Given the description of an element on the screen output the (x, y) to click on. 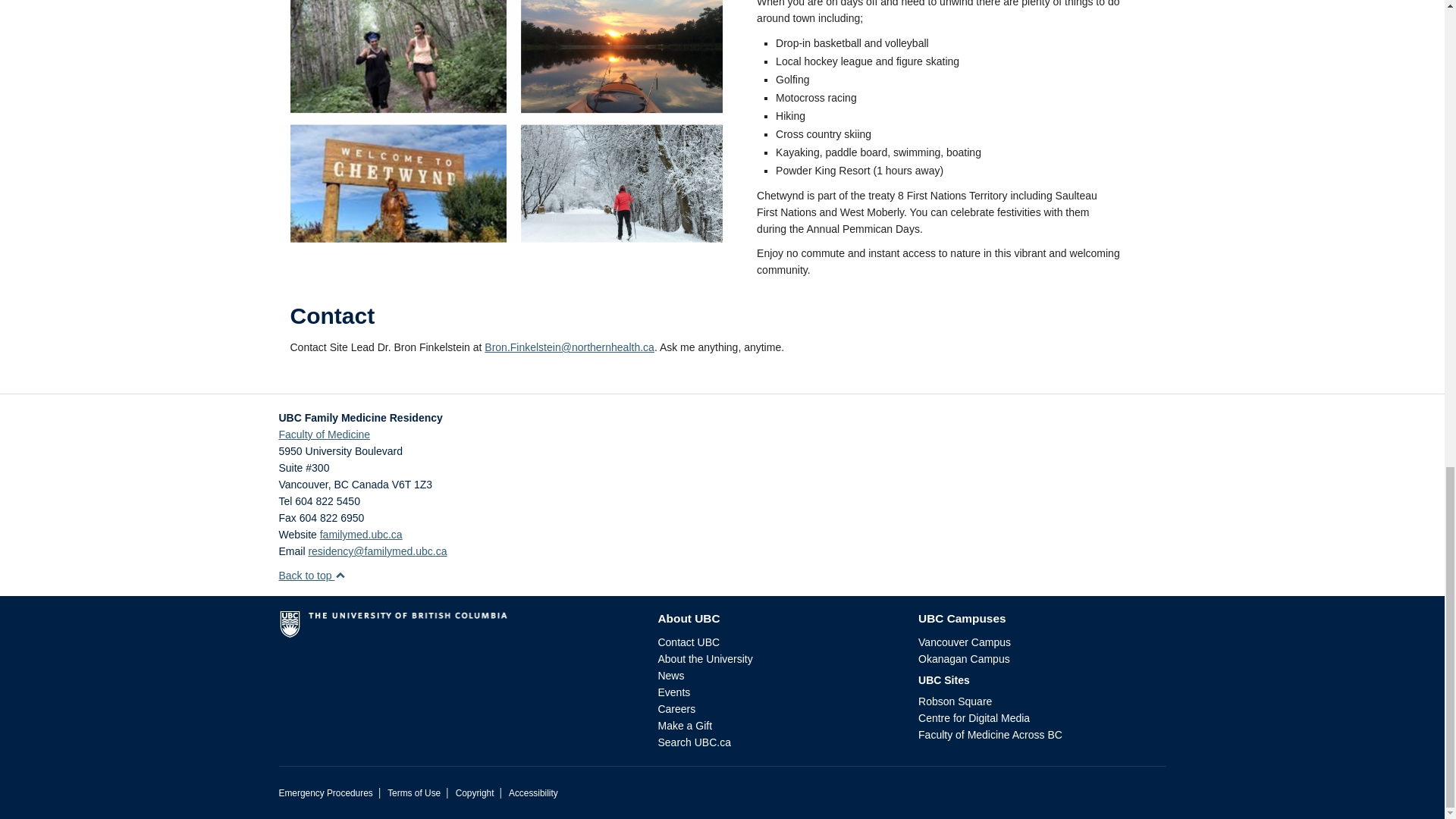
Terms of Use (414, 792)
Emergency Procedures (325, 792)
Accessibility (532, 792)
Back to top (312, 575)
UBC Copyright (475, 792)
